Given the description of an element on the screen output the (x, y) to click on. 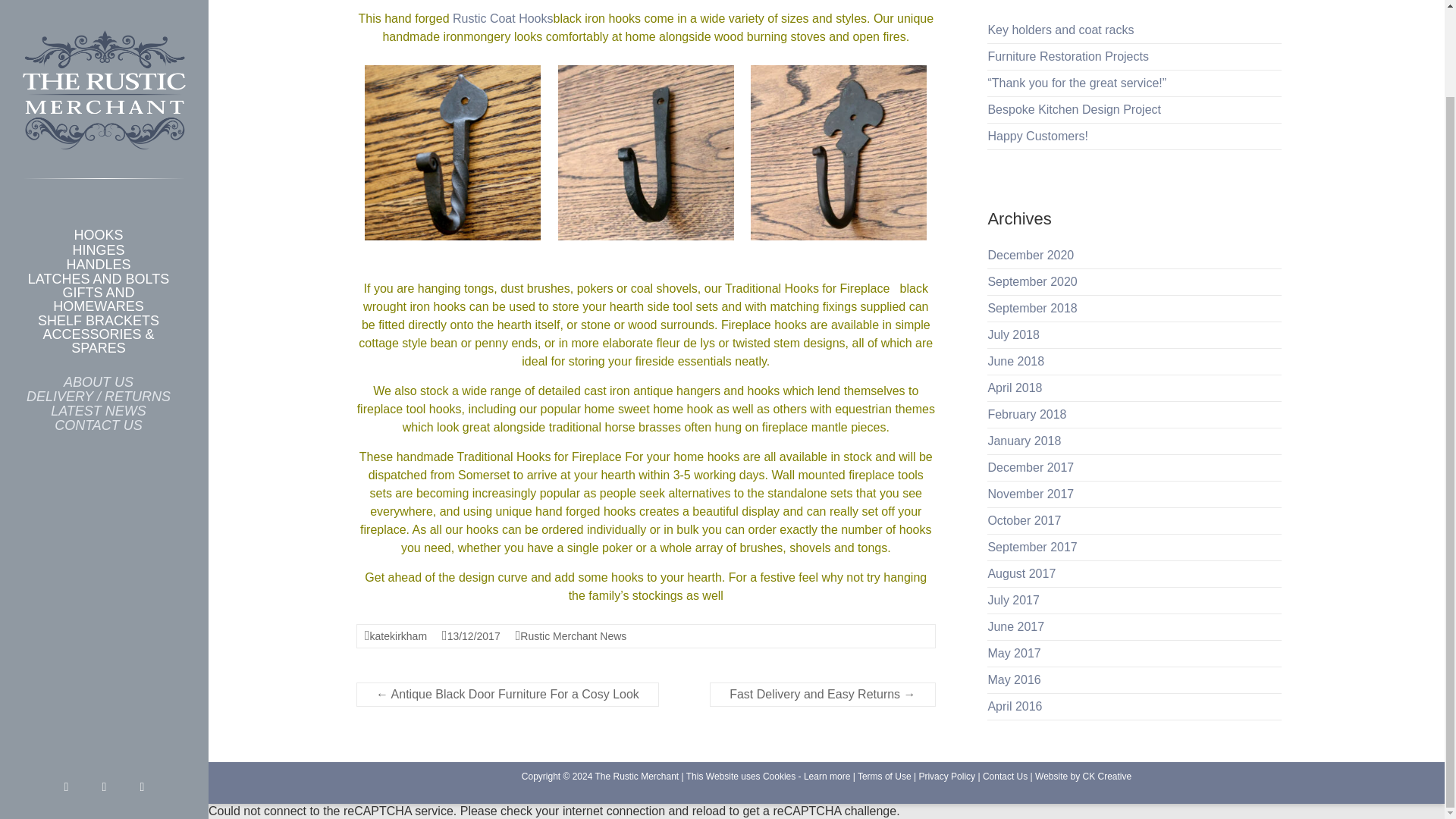
September 2020 (1032, 280)
LATCHES AND BOLTS (98, 179)
katekirkham (397, 635)
HANDLES (98, 164)
The Rustic Merchant (636, 775)
GIFTS AND HOMEWARES (98, 200)
Rustic Merchant News (572, 635)
September 2018 (1032, 308)
ABOUT US (98, 282)
HOOKS (98, 135)
CONTACT US (98, 326)
LATEST NEWS (98, 311)
5:48 PM (473, 635)
hooks (627, 576)
Happy Customers! (1037, 134)
